Given the description of an element on the screen output the (x, y) to click on. 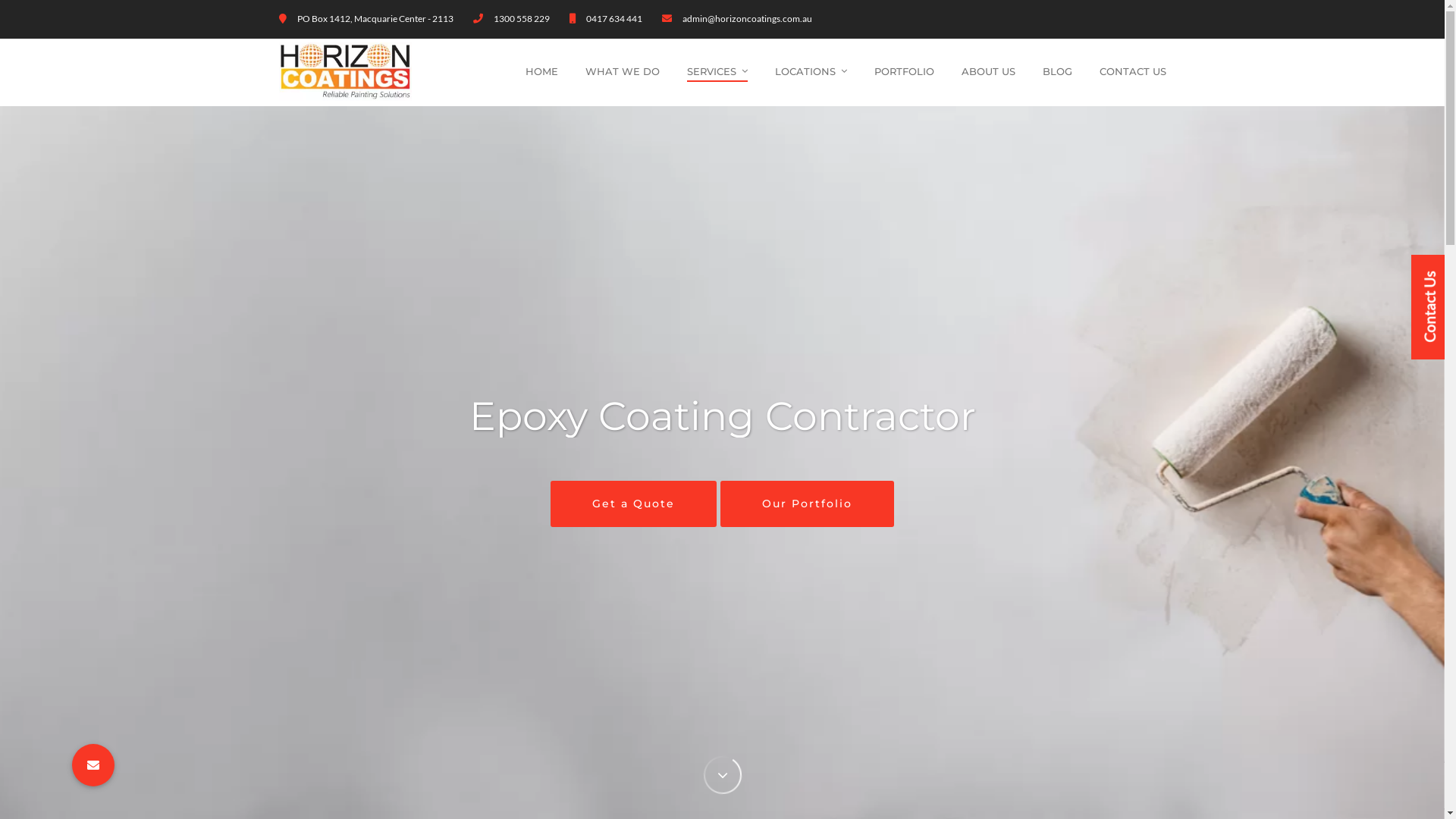
CONTACT US Element type: text (1132, 71)
SERVICES Element type: text (717, 71)
ABOUT US Element type: text (988, 71)
PORTFOLIO Element type: text (903, 71)
BLOG Element type: text (1056, 71)
WHAT WE DO Element type: text (622, 71)
LOCATIONS Element type: text (811, 71)
admin@horizoncoatings.com.au Element type: text (747, 18)
0417 634 441 Element type: text (613, 18)
1300 558 229 Element type: text (520, 18)
Get a Quote Element type: text (633, 503)
Our Portfolio Element type: text (807, 503)
HOME Element type: text (540, 71)
